Given the description of an element on the screen output the (x, y) to click on. 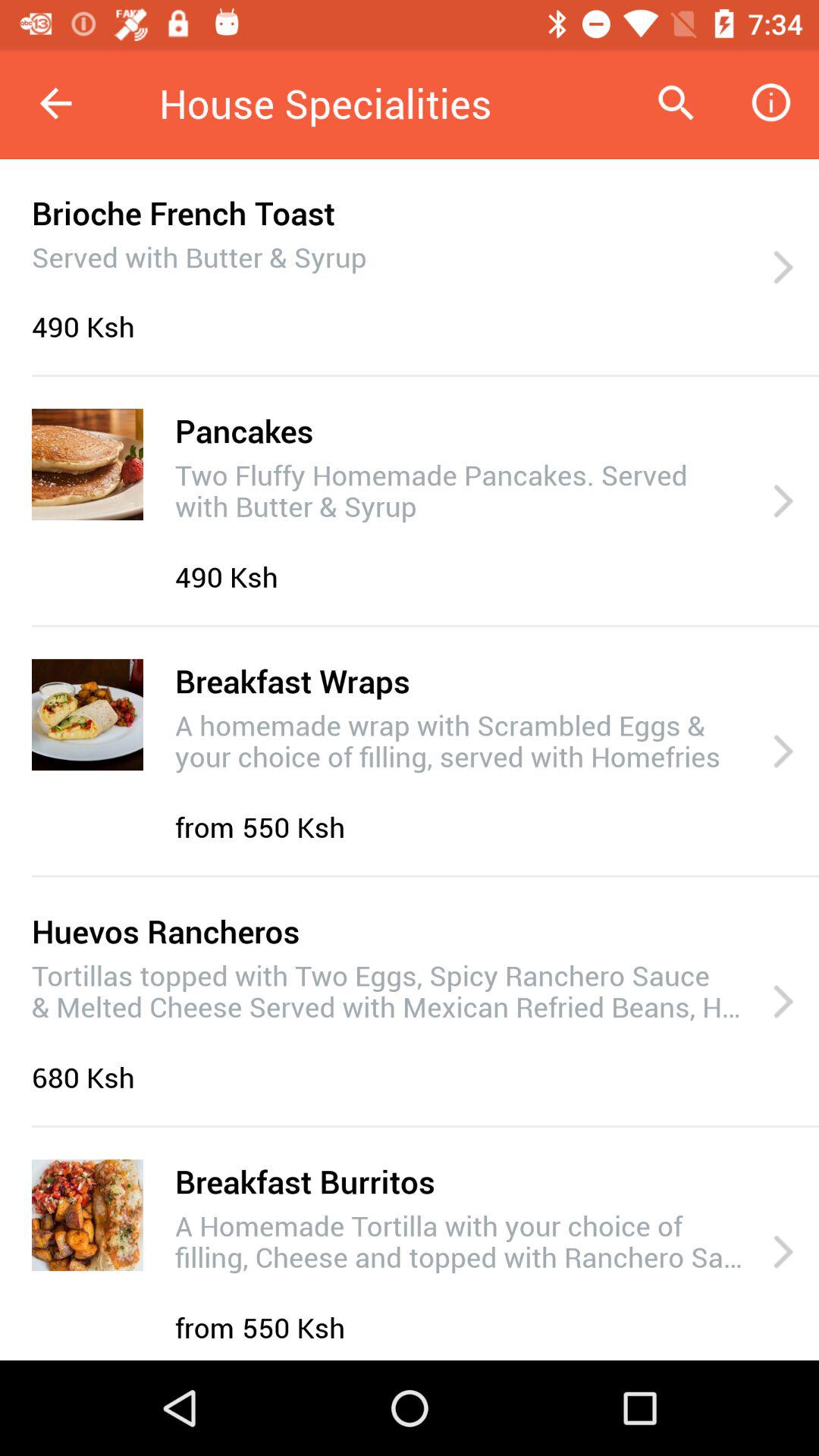
open the icon below the pancakes icon (461, 489)
